Given the description of an element on the screen output the (x, y) to click on. 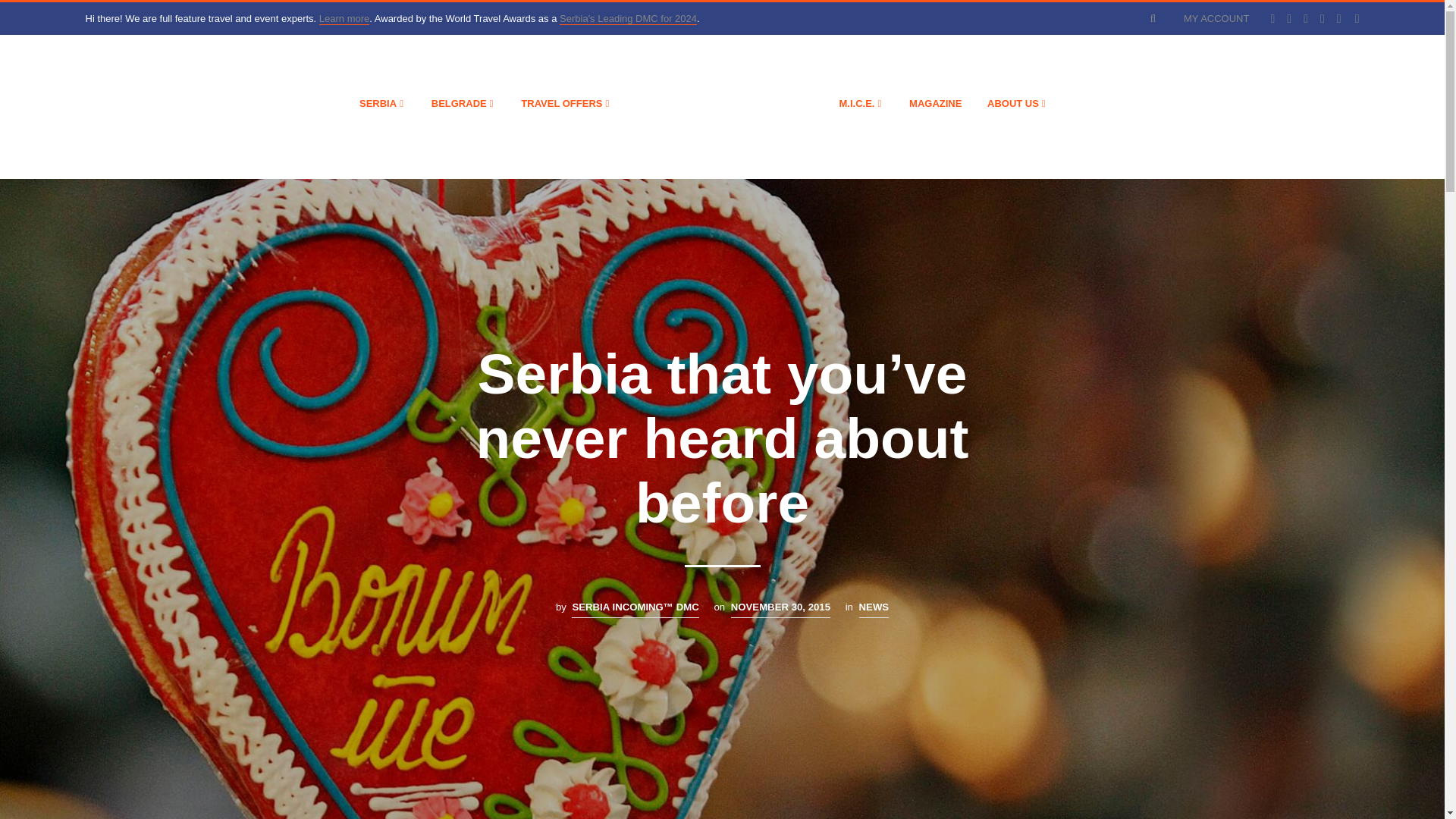
Search Offers (1154, 18)
SERBIA (377, 103)
MY ACCOUNT (1216, 18)
Learn more (343, 19)
BELGRADE (458, 103)
Serbia's Leading DMC for 2024 (628, 19)
